Given the description of an element on the screen output the (x, y) to click on. 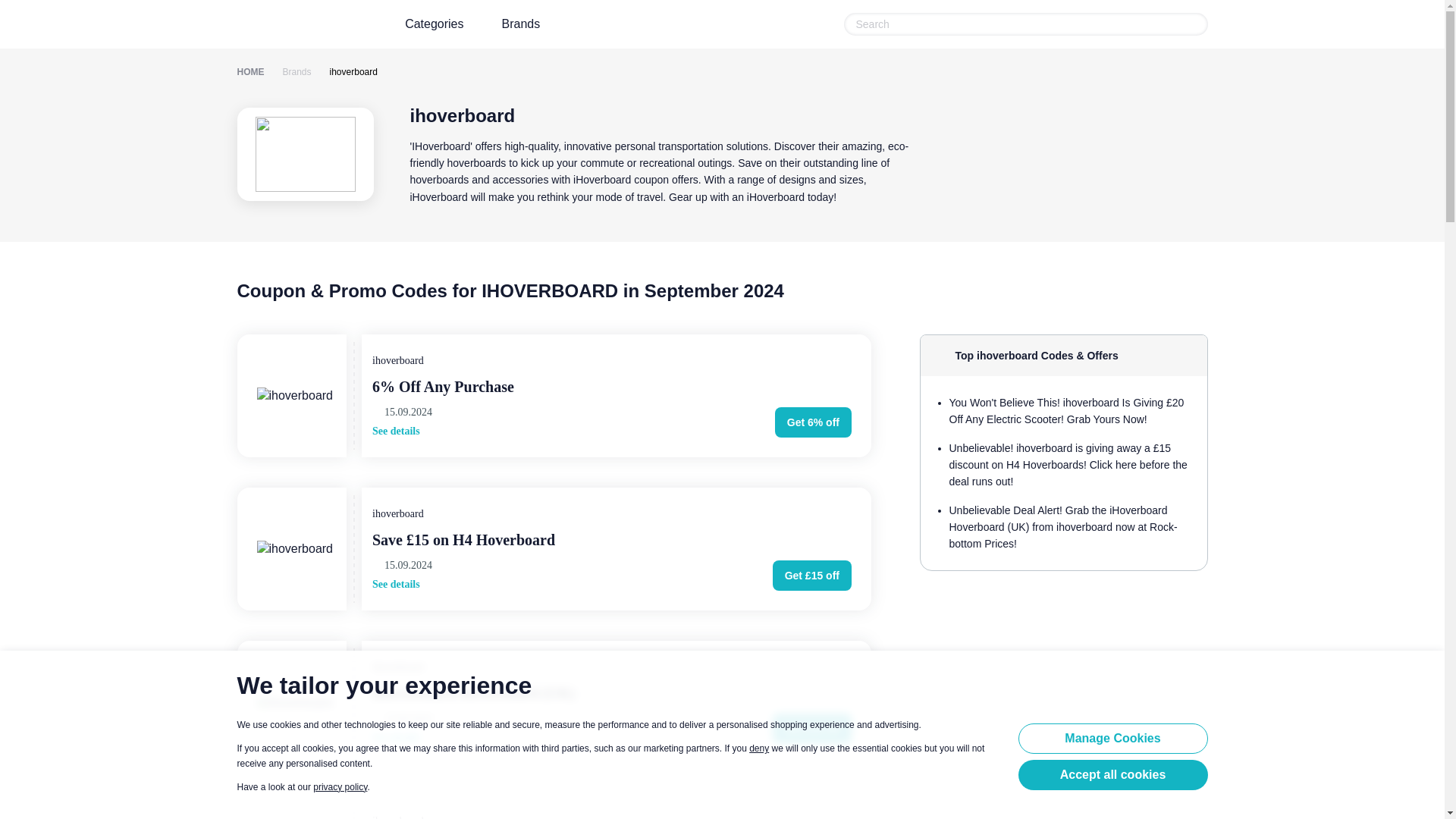
Brands (290, 72)
ihoverboard (347, 72)
Brands (521, 23)
HOME (249, 72)
